Given the description of an element on the screen output the (x, y) to click on. 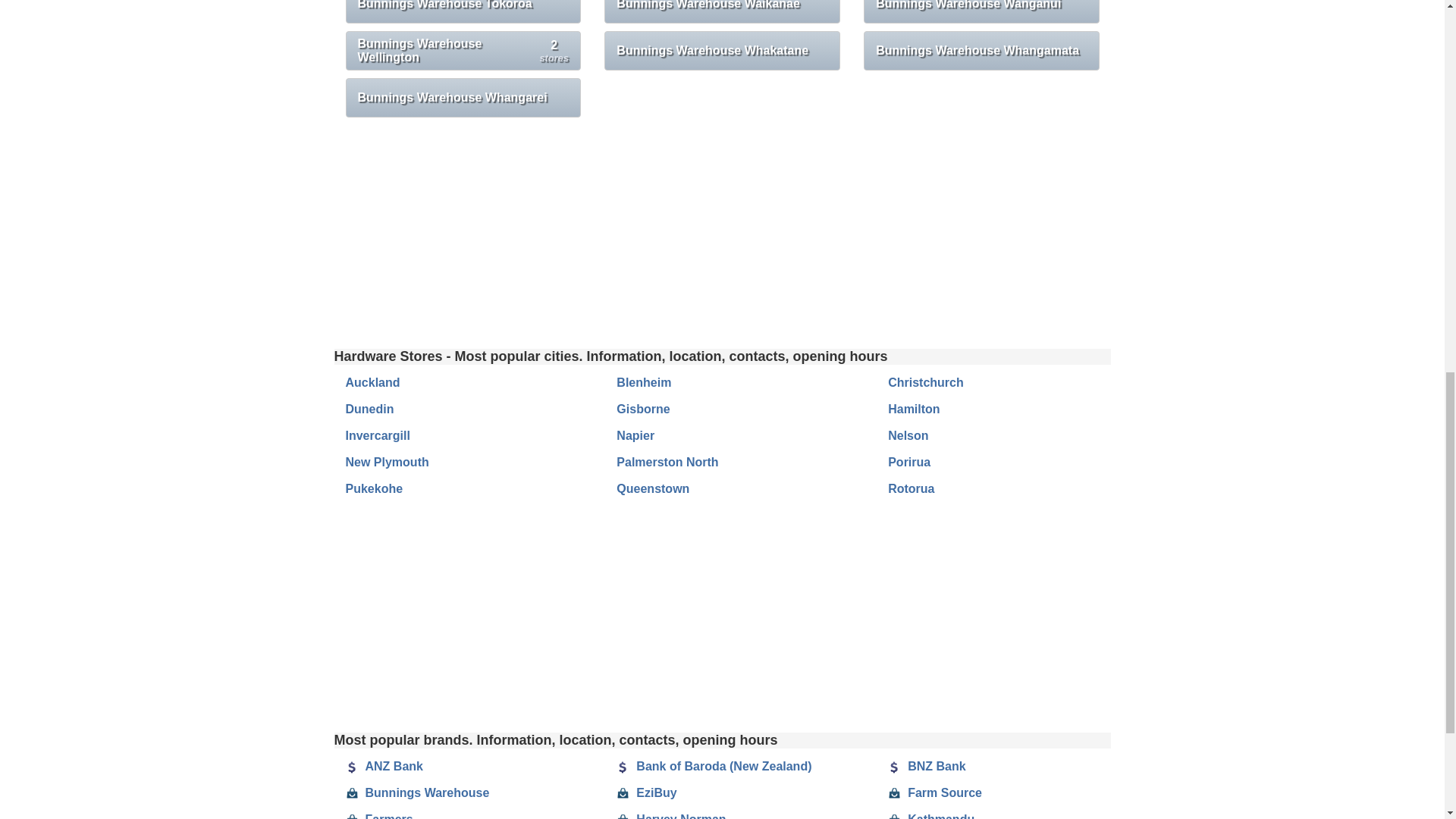
Bunnings Warehouse Whangarei (463, 97)
Bunnings Warehouse Tokoroa (463, 50)
Bunnings Warehouse Whangamata (463, 11)
Auckland (981, 50)
Bunnings Warehouse Whakatane (451, 384)
Bunnings Warehouse Waikanae (722, 50)
Bunnings Warehouse Wanganui (722, 11)
